Given the description of an element on the screen output the (x, y) to click on. 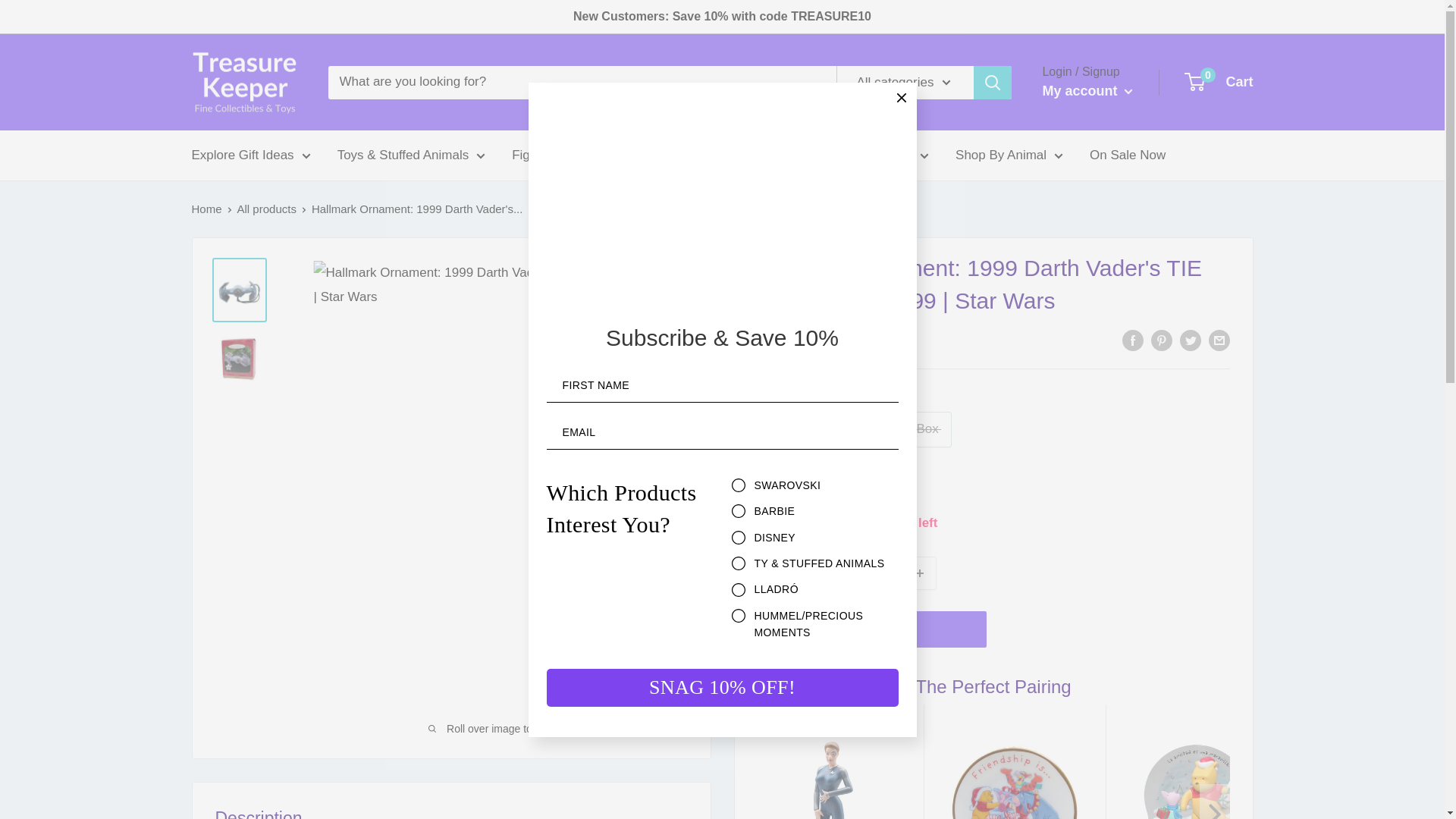
Decrease quantity by 1 (840, 572)
Increase quantity by 1 (920, 572)
1 (880, 572)
Like New Box (810, 429)
Worn Box (909, 429)
